Given the description of an element on the screen output the (x, y) to click on. 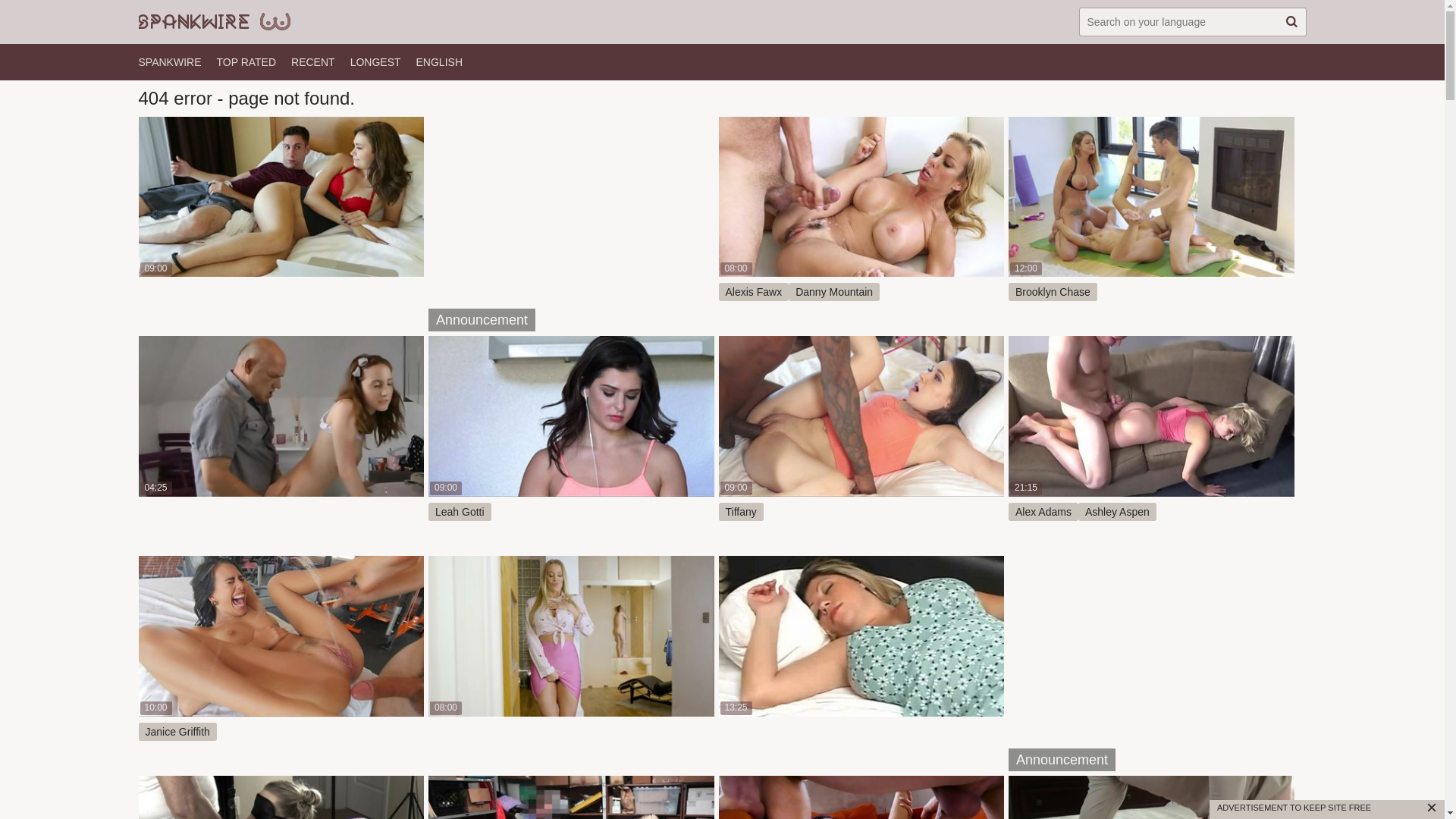
RECENT Element type: text (313, 62)
Alexis Fawx Element type: text (753, 291)
Danny Mountain Element type: text (833, 291)
TOP RATED Element type: text (246, 62)
Janice Griffith Element type: text (177, 731)
ENGLISH Element type: text (439, 62)
Tiffany Element type: text (740, 511)
Leah Gotti Element type: text (459, 511)
SPANKWIRE Element type: text (169, 62)
SpankWire Element type: hover (213, 21)
Ashley Aspen Element type: text (1117, 511)
Alex Adams Element type: text (1043, 511)
Brooklyn Chase Element type: text (1052, 291)
LONGEST Element type: text (375, 62)
